Given the description of an element on the screen output the (x, y) to click on. 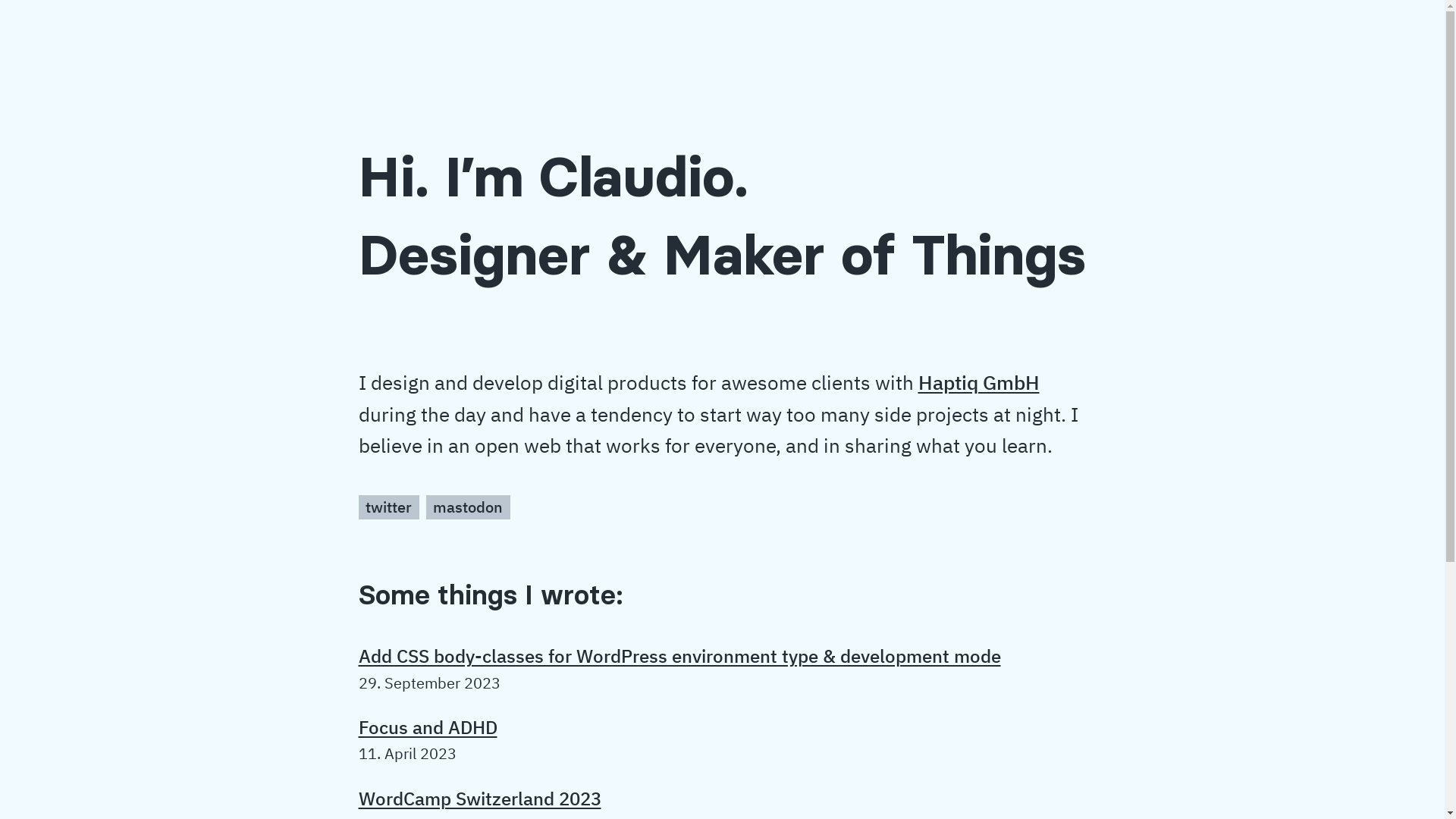
Haptiq GmbH Element type: text (977, 382)
twitter Element type: text (387, 507)
mastodon Element type: text (468, 507)
Focus and ADHD Element type: text (426, 727)
WordCamp Switzerland 2023 Element type: text (478, 798)
